Given the description of an element on the screen output the (x, y) to click on. 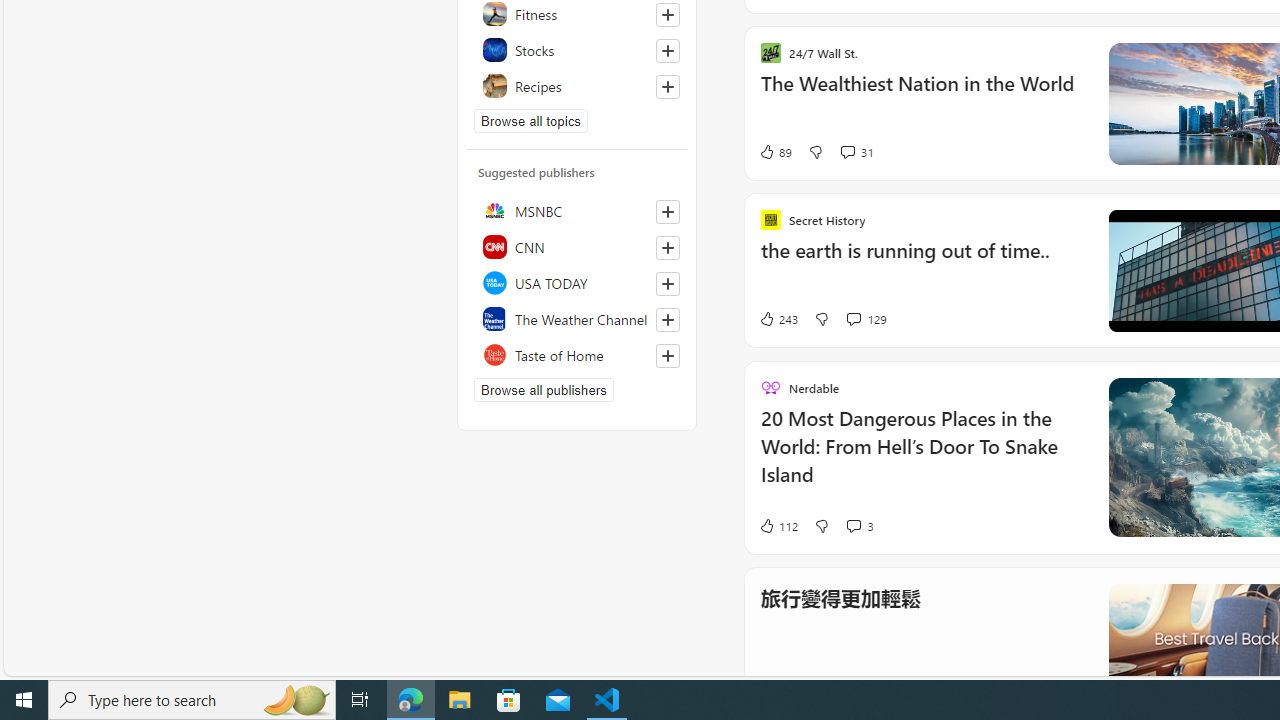
Follow this source (667, 355)
View comments 3 Comment (852, 525)
View comments 129 Comment (852, 319)
The Wealthiest Nation in the World (922, 93)
Recipes (577, 85)
MSNBC (577, 210)
The Weather Channel (577, 318)
View comments 3 Comment (859, 524)
Browse all publishers (543, 389)
243 Like (778, 318)
the earth is running out of time.. (922, 261)
